Given the description of an element on the screen output the (x, y) to click on. 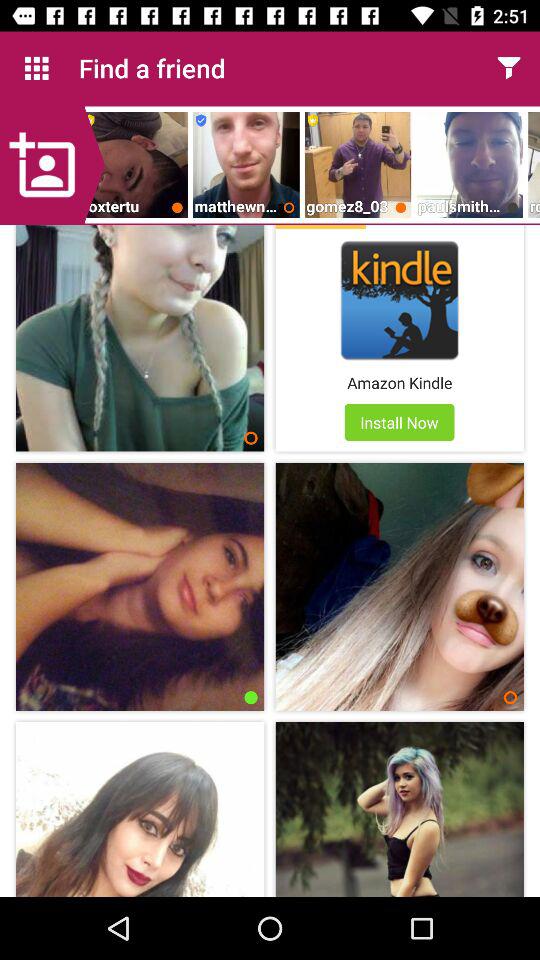
press icon to the left of the find a friend icon (36, 68)
